Given the description of an element on the screen output the (x, y) to click on. 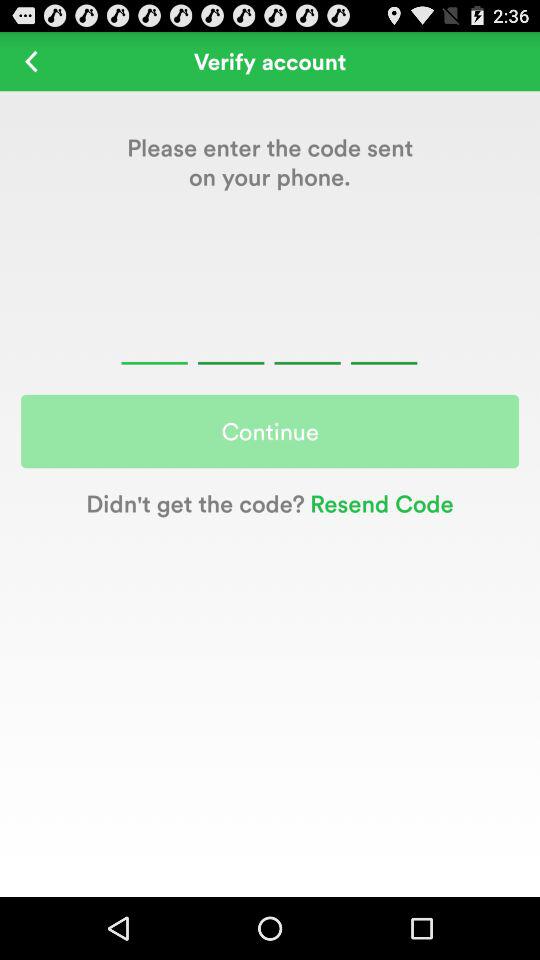
turn off the item above the didn t get (270, 431)
